Given the description of an element on the screen output the (x, y) to click on. 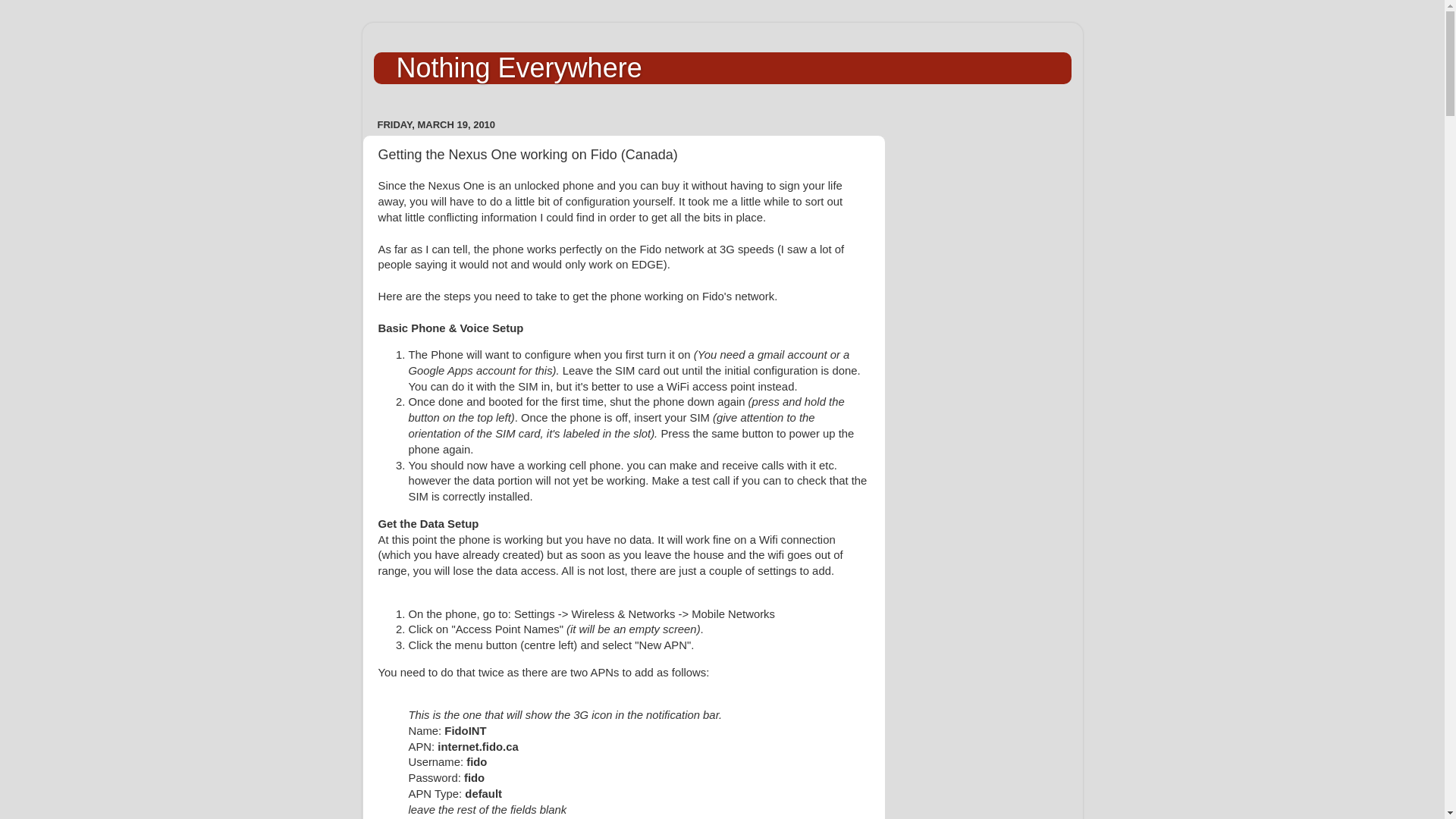
Nothing Everywhere (519, 67)
